Given the description of an element on the screen output the (x, y) to click on. 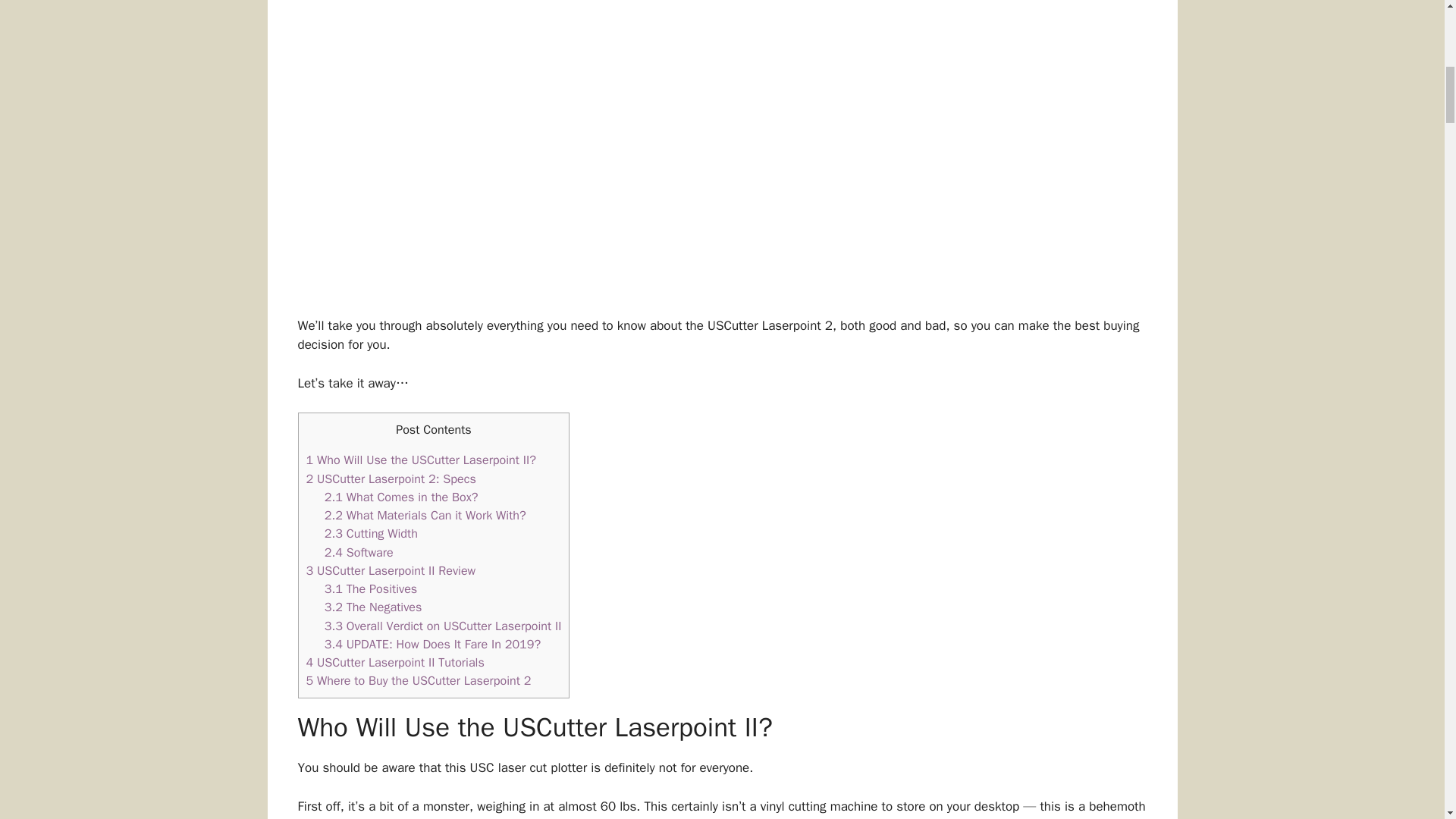
3.3 Overall Verdict on USCutter Laserpoint II (443, 625)
3 USCutter Laserpoint II Review (390, 570)
3.4 UPDATE: How Does It Fare In 2019? (432, 643)
3.1 The Positives (370, 588)
2.3 Cutting Width (370, 533)
2.4 Software (358, 552)
2.2 What Materials Can it Work With? (424, 514)
1 Who Will Use the USCutter Laserpoint II? (420, 459)
2.1 What Comes in the Box? (401, 496)
3.2 The Negatives (373, 606)
